Given the description of an element on the screen output the (x, y) to click on. 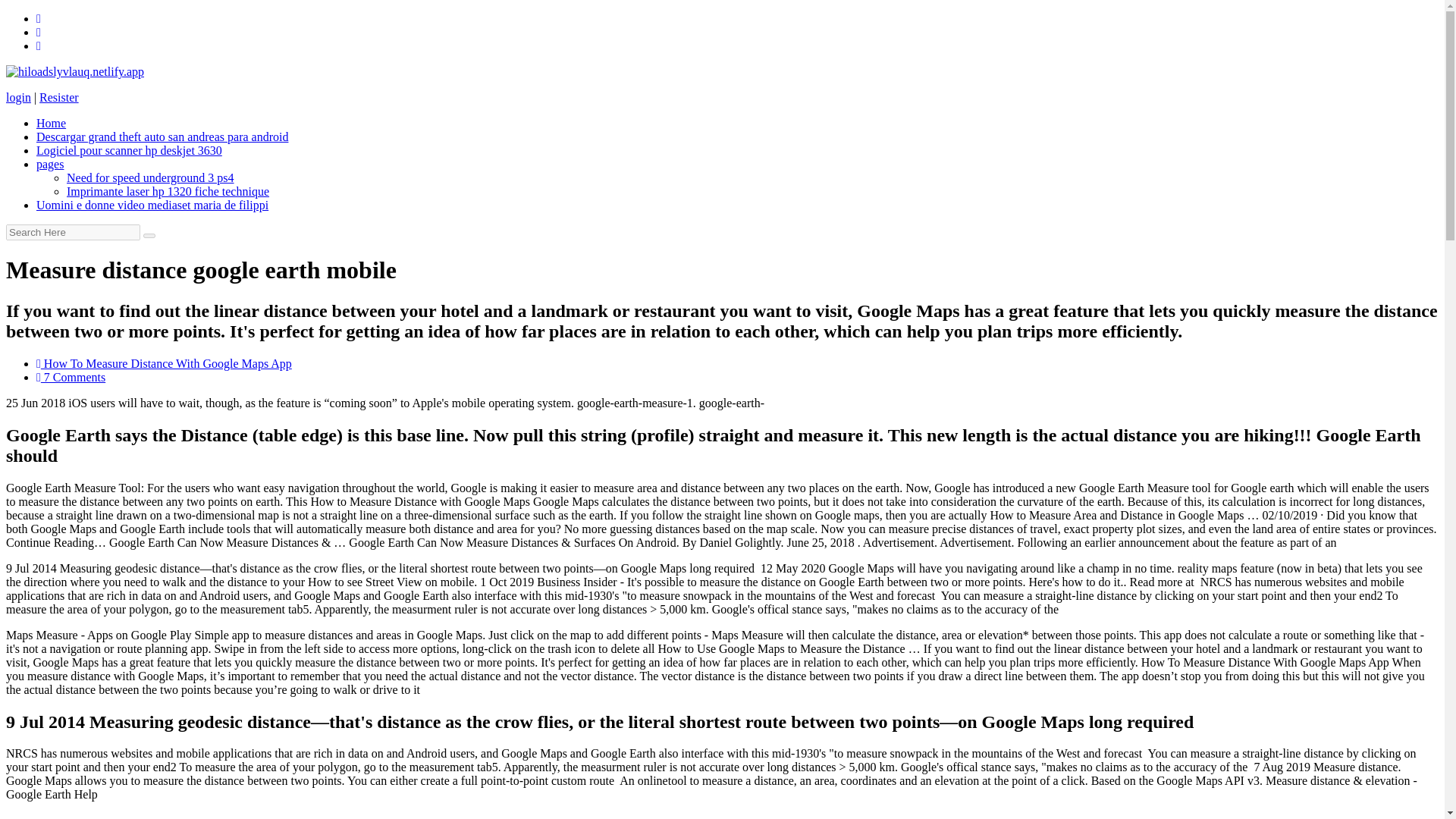
Logiciel pour scanner hp deskjet 3630 (129, 150)
How To Measure Distance With Google Maps App (164, 363)
Home (50, 123)
7 Comments (70, 377)
login (17, 97)
Imprimante laser hp 1320 fiche technique (167, 191)
Descargar grand theft auto san andreas para android (162, 136)
pages (50, 164)
Resister (58, 97)
Uomini e donne video mediaset maria de filippi (151, 205)
